Given the description of an element on the screen output the (x, y) to click on. 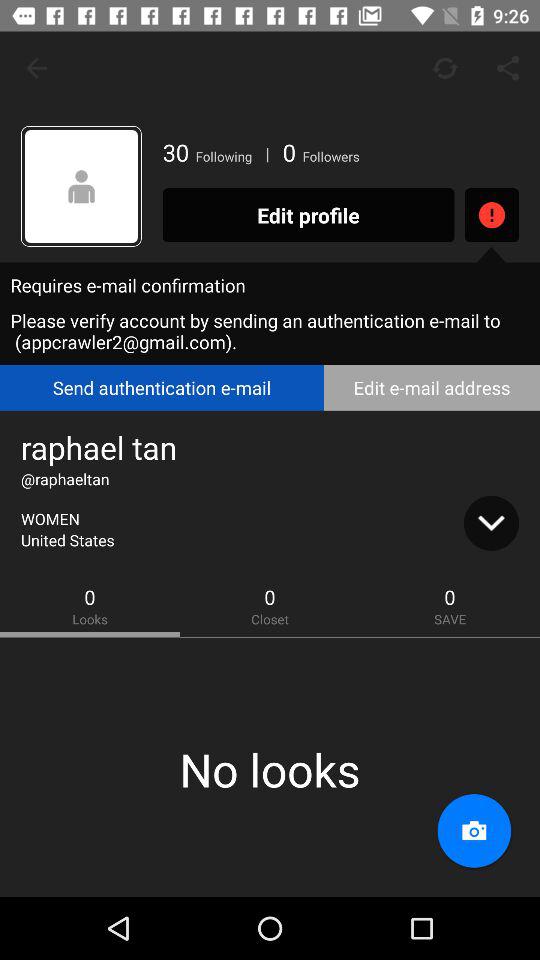
profile image (81, 186)
